Given the description of an element on the screen output the (x, y) to click on. 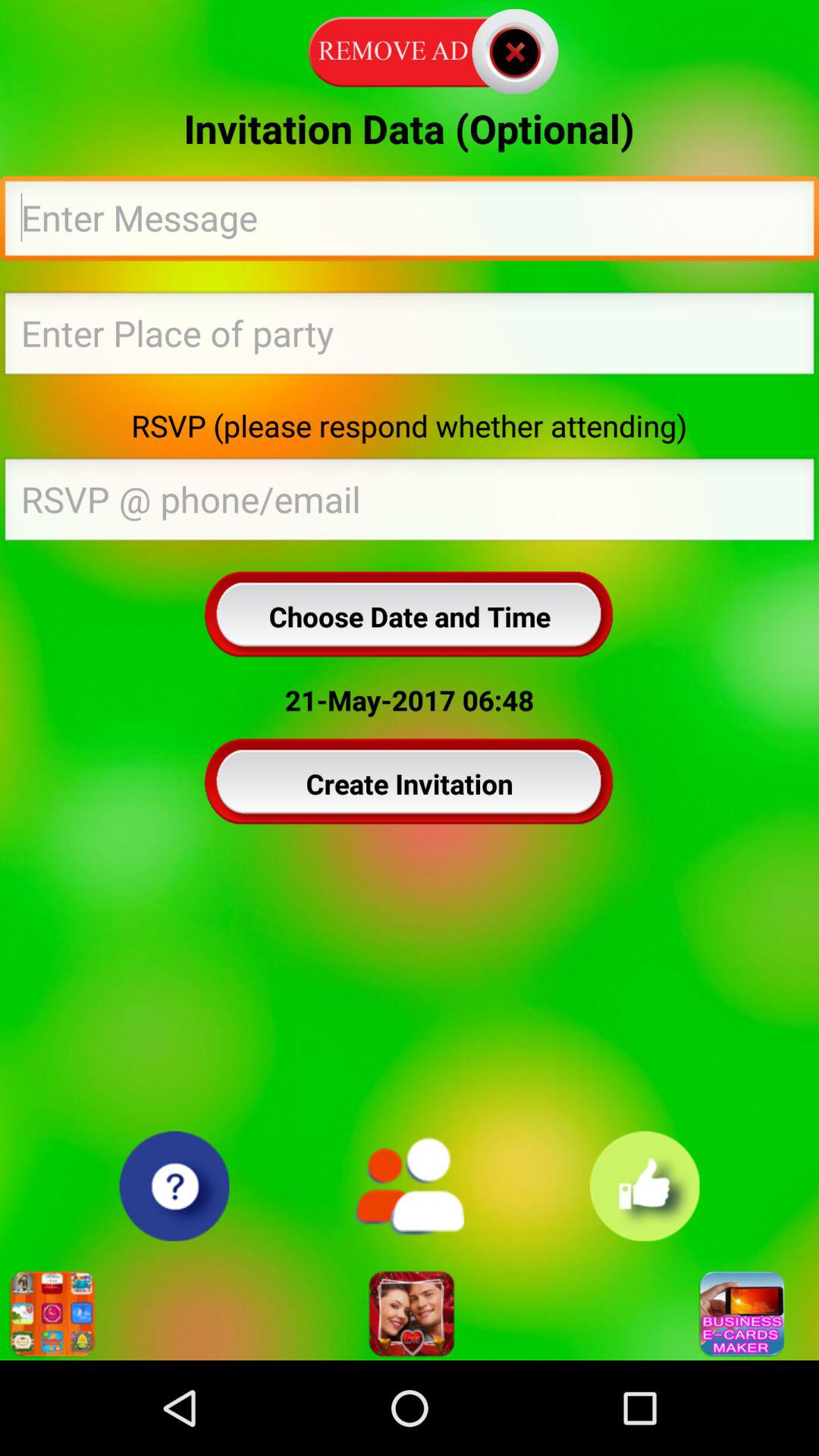
choose item above invitation data (optional) icon (409, 48)
